Given the description of an element on the screen output the (x, y) to click on. 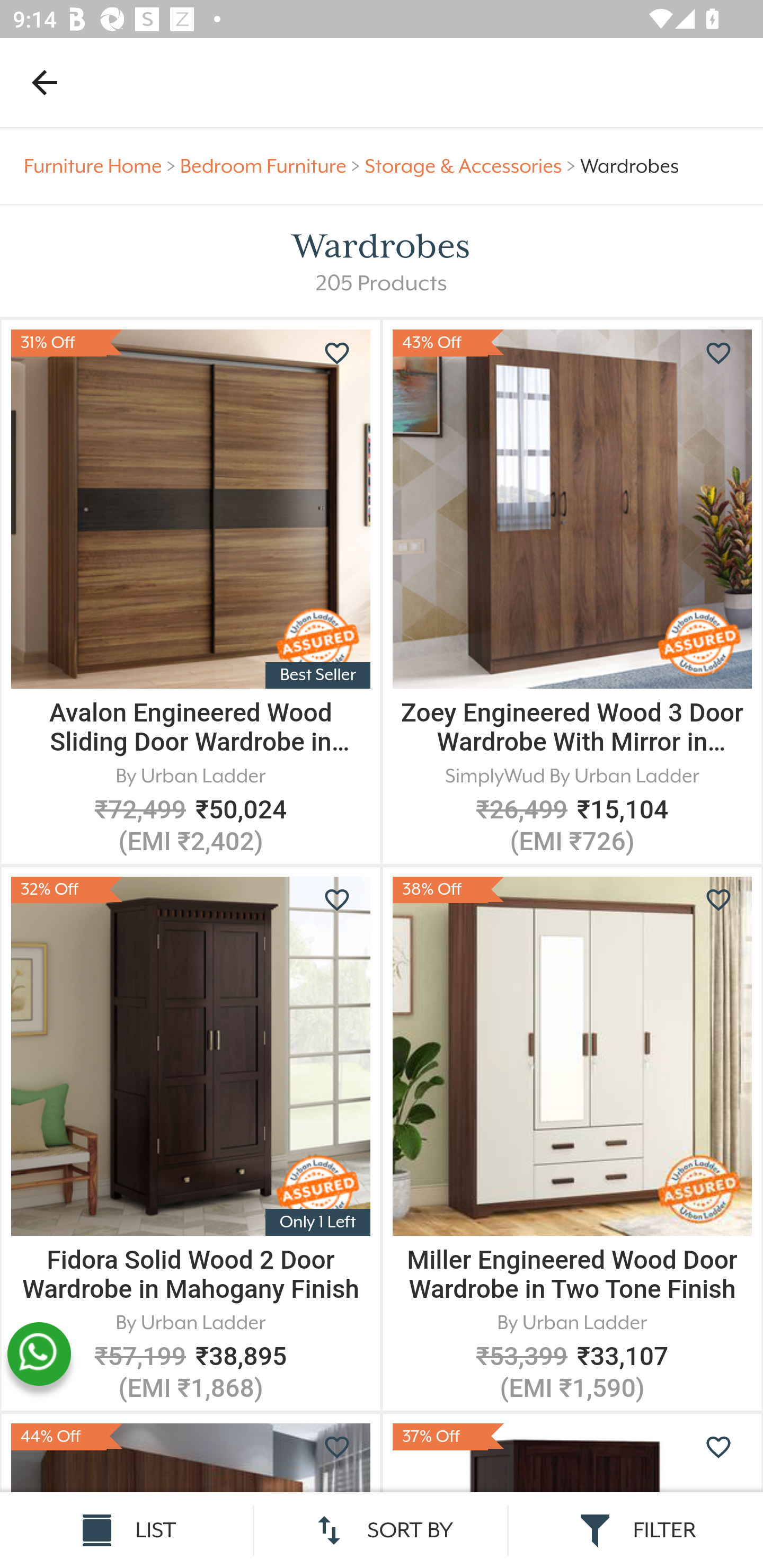
Navigate up (44, 82)
Furniture Home >  Furniture Home  >  (102, 165)
Bedroom Furniture >  Bedroom Furniture  >  (272, 165)
Storage & Accessories >  Storage & Accessories  >  (472, 165)
whatsapp (38, 1353)
LIST (127, 1530)
SORT BY (381, 1530)
FILTER (635, 1530)
